Given the description of an element on the screen output the (x, y) to click on. 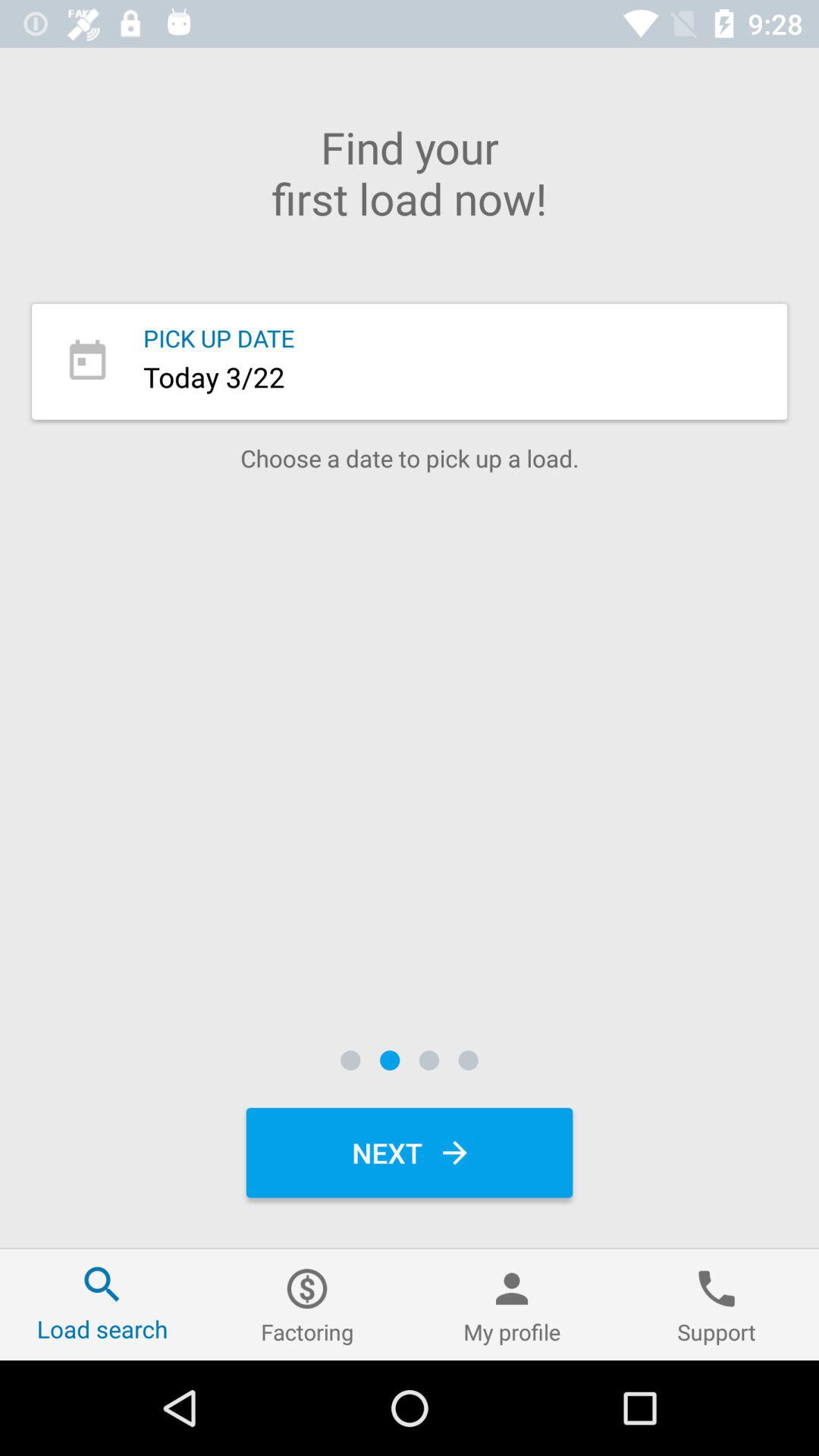
select icon to the left of the support icon (511, 1304)
